Given the description of an element on the screen output the (x, y) to click on. 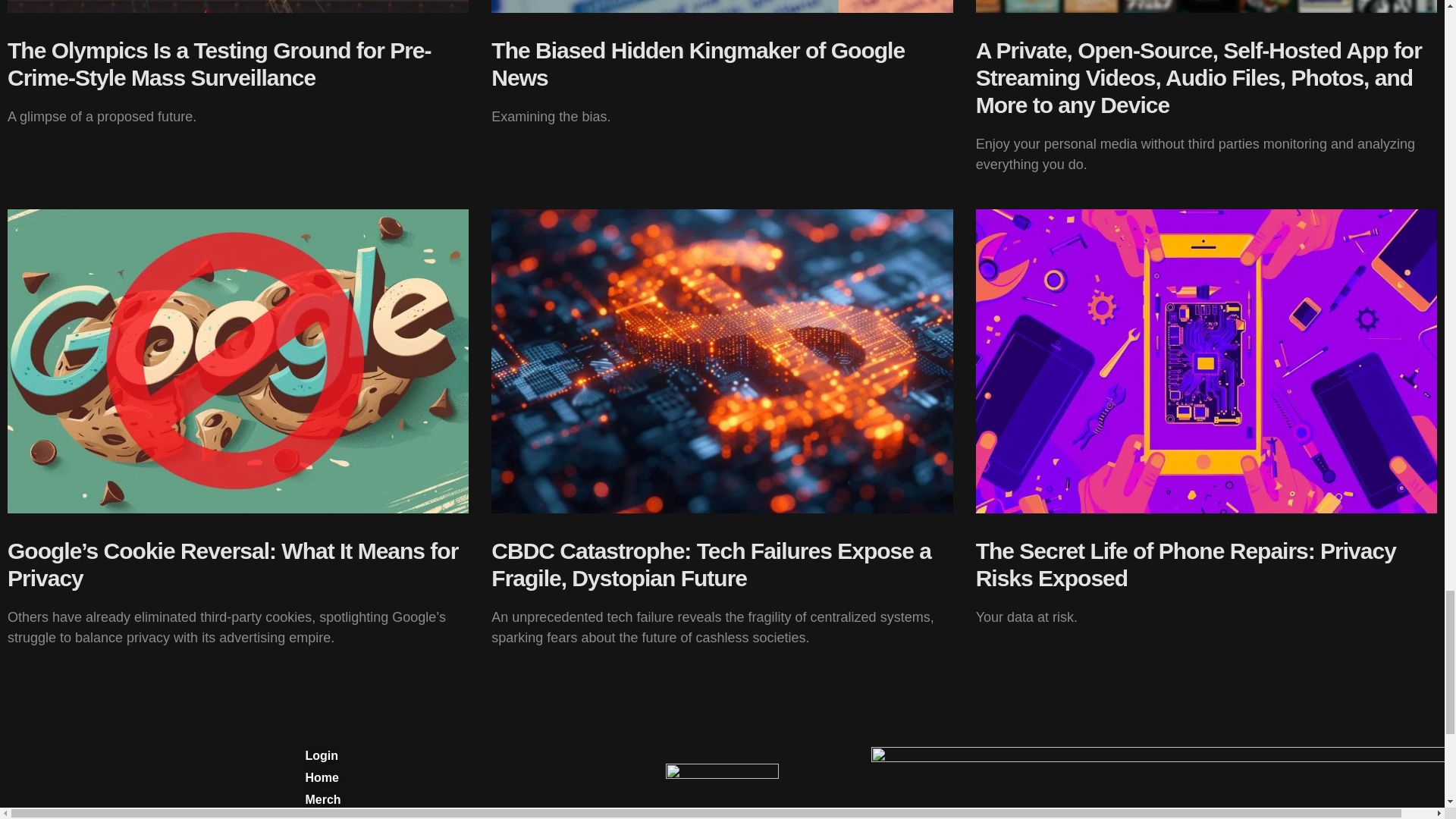
The Biased Hidden Kingmaker of Google News (698, 63)
